Given the description of an element on the screen output the (x, y) to click on. 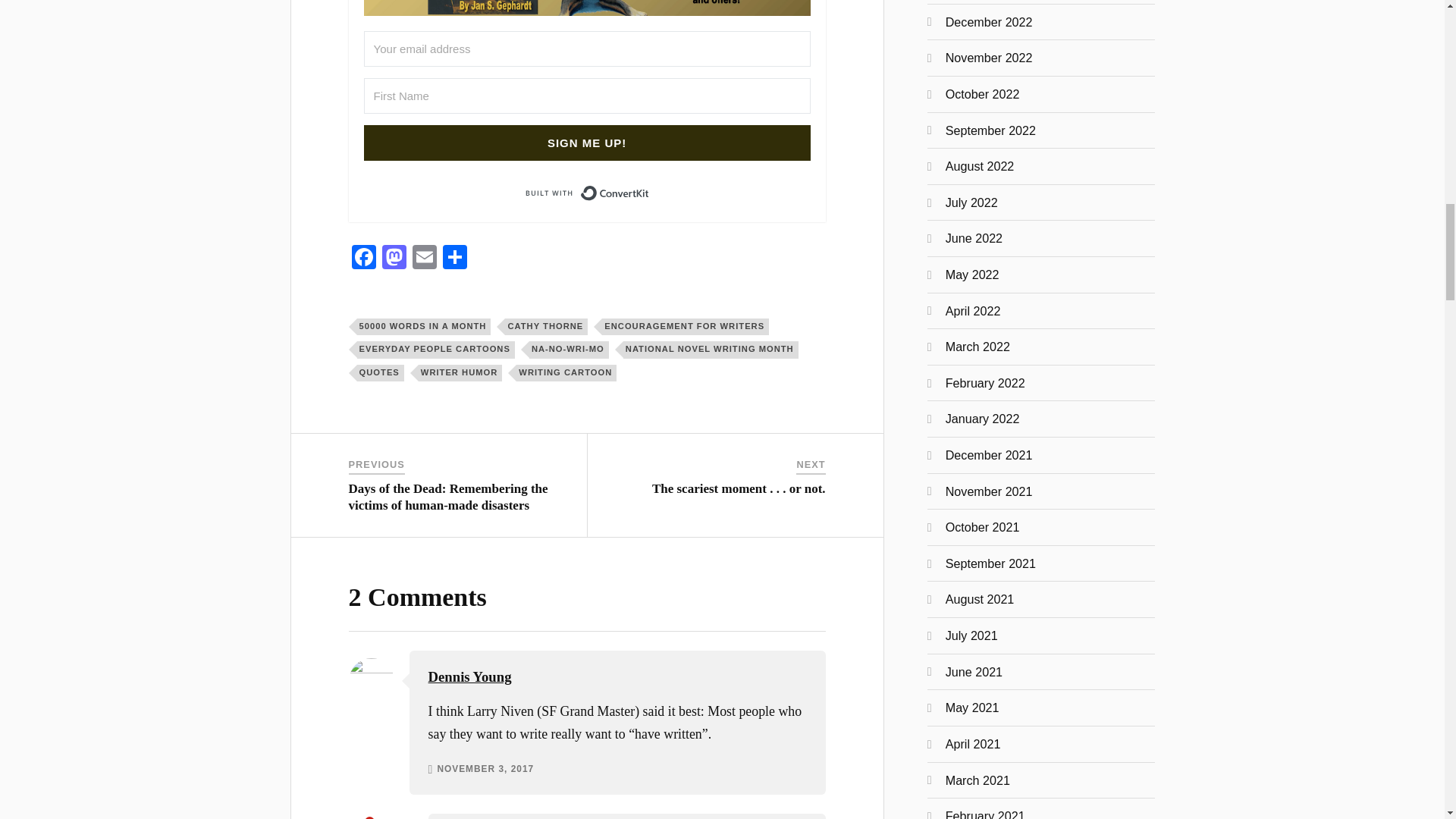
Mastodon (393, 258)
ENCOURAGEMENT FOR WRITERS (685, 326)
Facebook (363, 258)
CATHY THORNE (546, 326)
50000 WORDS IN A MONTH (424, 326)
EVERYDAY PEOPLE CARTOONS (435, 349)
Share (454, 258)
Mastodon (393, 258)
Facebook (363, 258)
SIGN ME UP! (587, 142)
Email (424, 258)
Email (424, 258)
NA-NO-WRI-MO (568, 349)
QUOTES (380, 372)
Built with ConvertKit (586, 193)
